Given the description of an element on the screen output the (x, y) to click on. 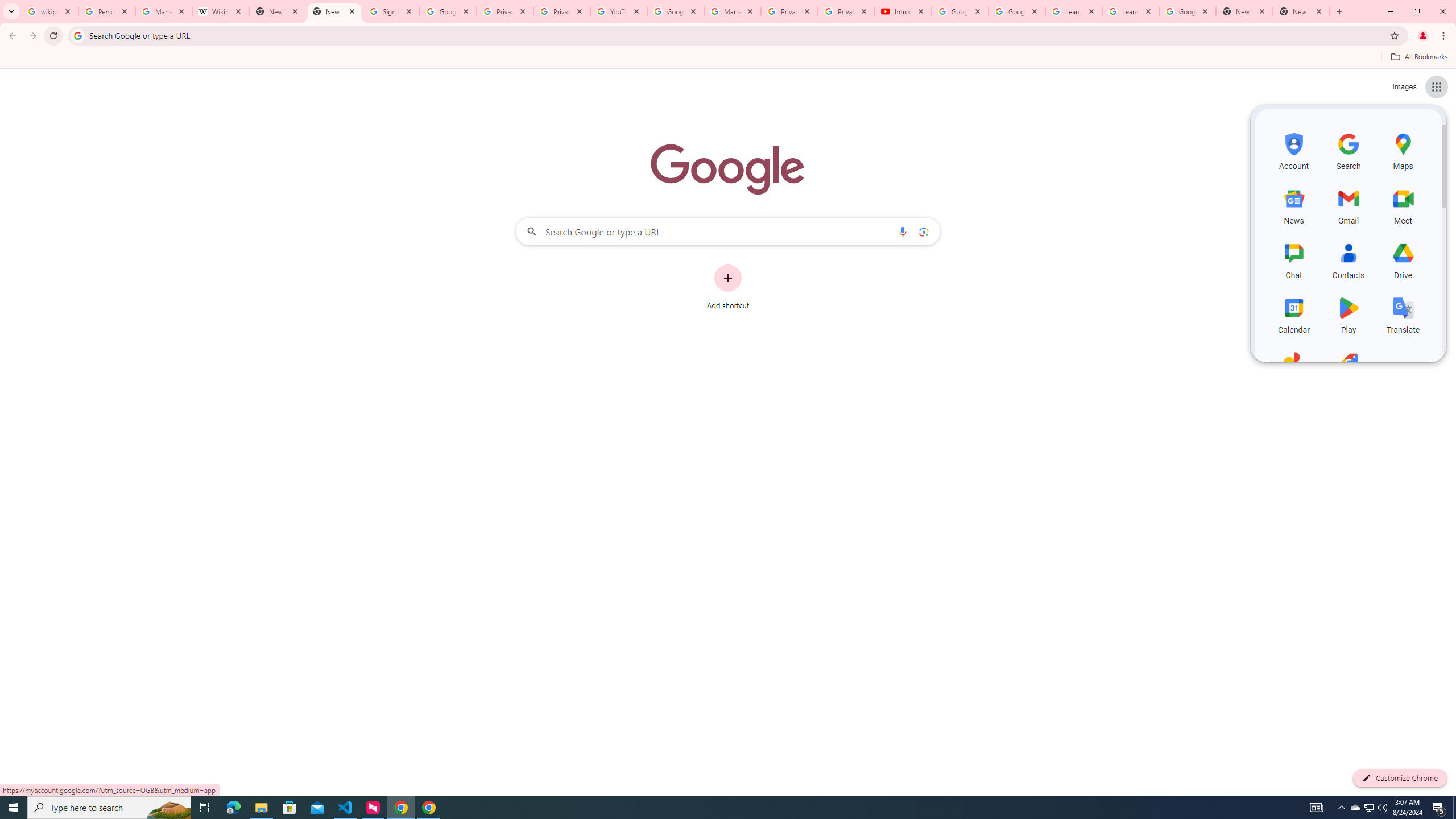
Drive, row 3 of 5 and column 3 of 3 in the first section (1402, 259)
Bookmarks (728, 58)
Contacts, row 3 of 5 and column 2 of 3 in the first section (1348, 259)
Google Account (1187, 11)
Introduction | Google Privacy Policy - YouTube (902, 11)
Account, row 1 of 5 and column 1 of 3 in the first section (1293, 149)
Google Drive: Sign-in (447, 11)
Meet, row 2 of 5 and column 3 of 3 in the first section (1402, 204)
Wikipedia:Edit requests - Wikipedia (220, 11)
